Given the description of an element on the screen output the (x, y) to click on. 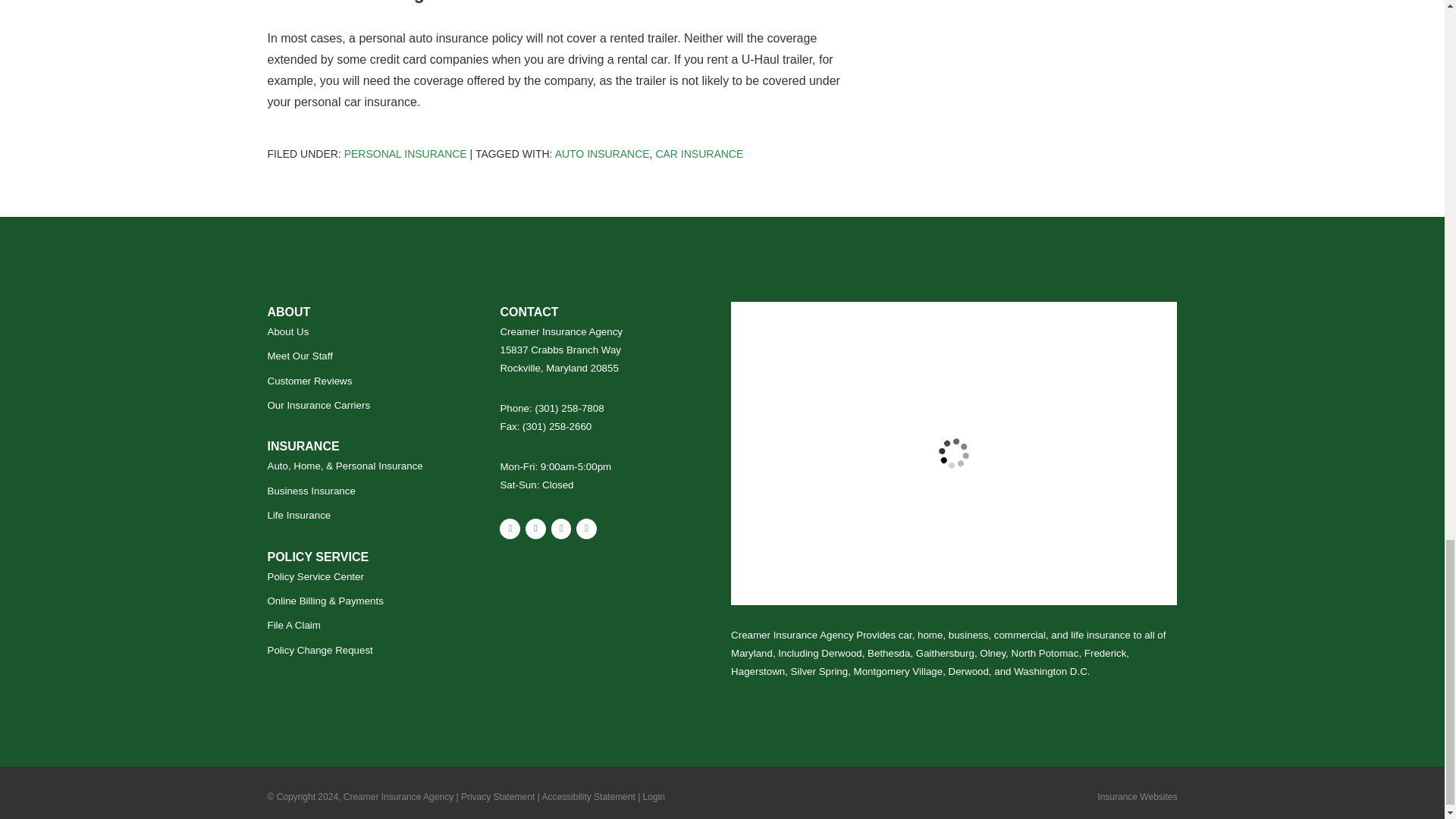
Car Insurance (698, 153)
LinkedIn (586, 528)
Google Maps (509, 528)
Facebook (561, 528)
Yelp (535, 528)
Auto Insurance (601, 153)
Personal Insurance (405, 153)
